Given the description of an element on the screen output the (x, y) to click on. 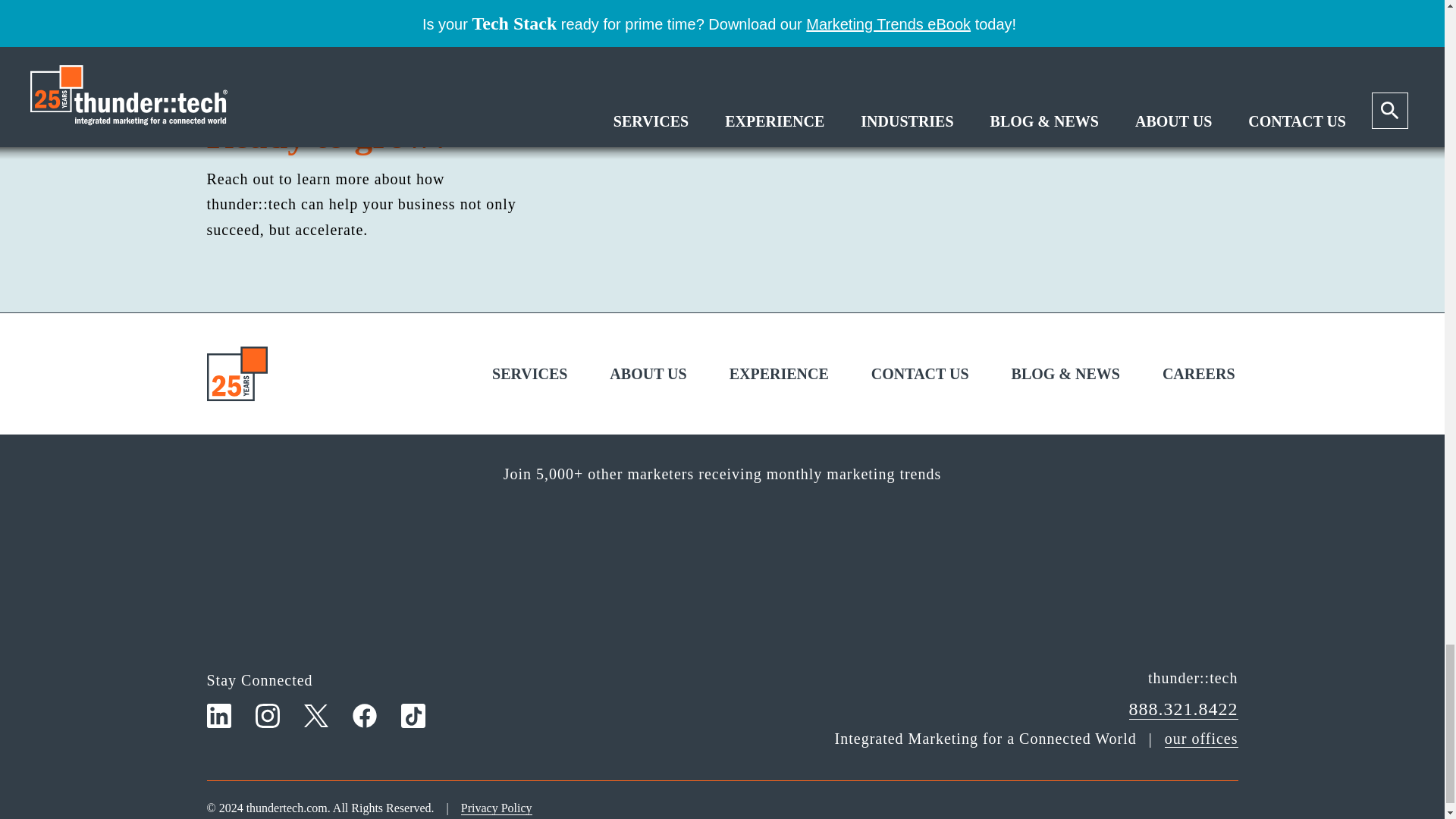
ABOUT US (647, 373)
CAREERS (1198, 373)
See All Experiences (416, 29)
SERVICES (722, 28)
EXPERIENCE (529, 373)
CONTACT US (778, 373)
